Given the description of an element on the screen output the (x, y) to click on. 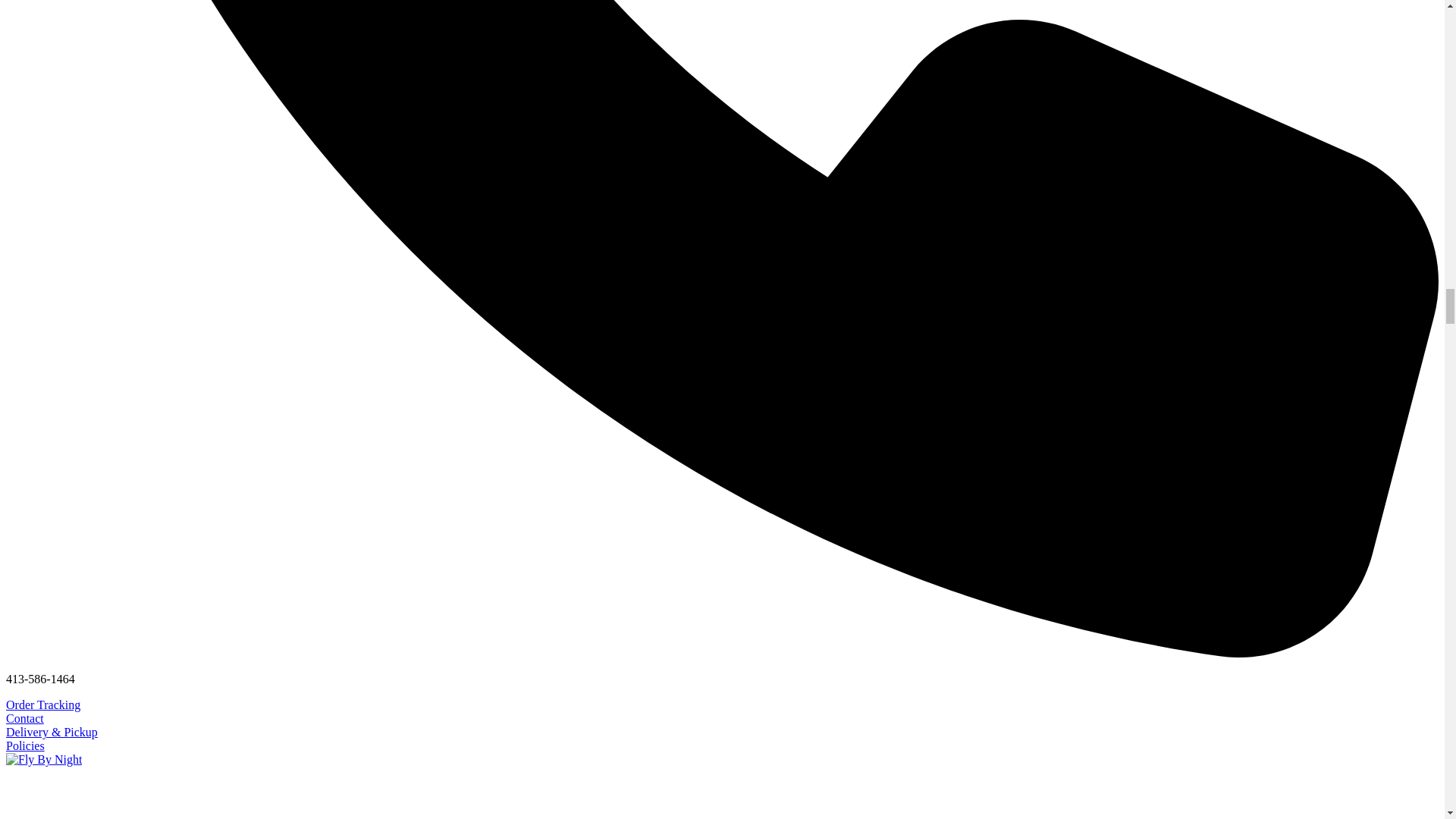
Contact (24, 717)
Order Tracking (42, 704)
Policies (25, 745)
